Given the description of an element on the screen output the (x, y) to click on. 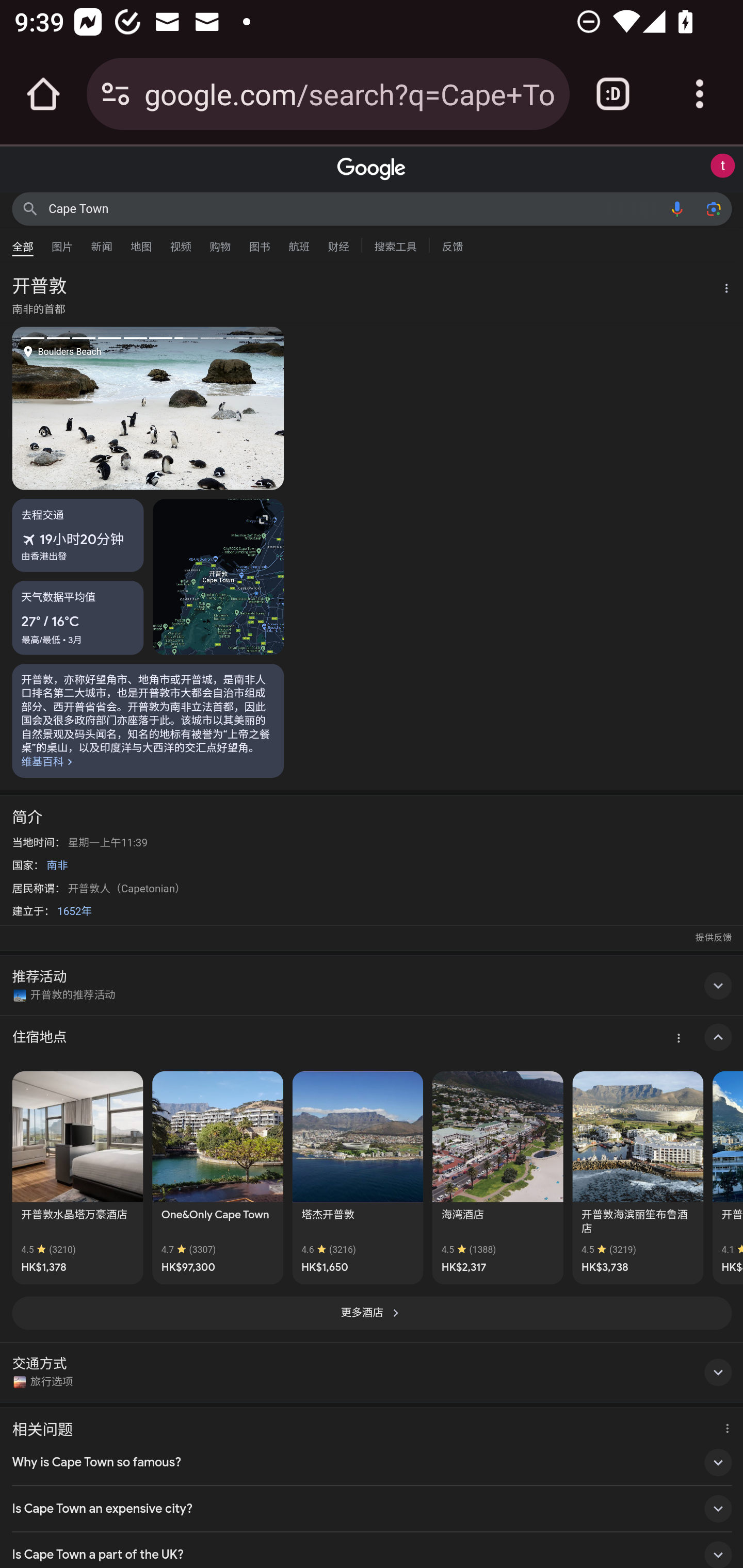
Open the home page (43, 93)
Connection is secure (115, 93)
Switch or close tabs (612, 93)
Customize and control Google Chrome (699, 93)
Google (371, 169)
Google 账号： test appium (testappium002@gmail.com) (722, 165)
Google 搜索 (29, 208)
使用拍照功能或照片进行搜索 (712, 208)
Cape Town (353, 208)
图片 (62, 241)
新闻 (101, 241)
地图 (141, 241)
视频 (180, 241)
购物 (219, 241)
图书 (259, 241)
航班 (299, 241)
财经 (338, 241)
搜索工具 (395, 244)
反馈 (452, 244)
更多选项 (720, 289)
上一张图片 (79, 407)
下一张图片 (215, 407)
去程交通 19小时20分钟 乘坐飞机 由香港出發 (77, 535)
展开地图 (217, 576)
天气数据平均值 27° / 16°C 最高/最低 • 3月 (77, 617)
%E9%96%8B%E6%99%AE%E6%95%A6 (147, 720)
南非 (57, 865)
1652年 (74, 910)
提供反馈 (713, 937)
推荐活动 … 开普敦的推荐活动 (371, 985)
住宿地点 … 开普敦的酒店 (371, 1037)
开普敦水晶塔万豪酒店 4.5 评分为 4.5 星（最高 5 星）， (3210) HK$1,378 (77, 1177)
塔杰开普敦 4.6 评分为 4.6 星（最高 5 星）， (3216) HK$1,650 (357, 1177)
海湾酒店 4.5 评分为 4.5 星（最高 5 星）， (1388) HK$2,317 (497, 1177)
开普敦海滨丽笙布鲁酒店 4.5 评分为 4.5 星（最高 5 星）， (3219) HK$3,738 (637, 1177)
更多酒店 (371, 1312)
交通方式 … 旅行选项 (371, 1371)
关于这条结果的详细信息 (724, 1425)
Why is Cape Town so famous? (371, 1462)
Is Cape Town an expensive city? (371, 1507)
Is Cape Town a part of the UK? (371, 1549)
